Given the description of an element on the screen output the (x, y) to click on. 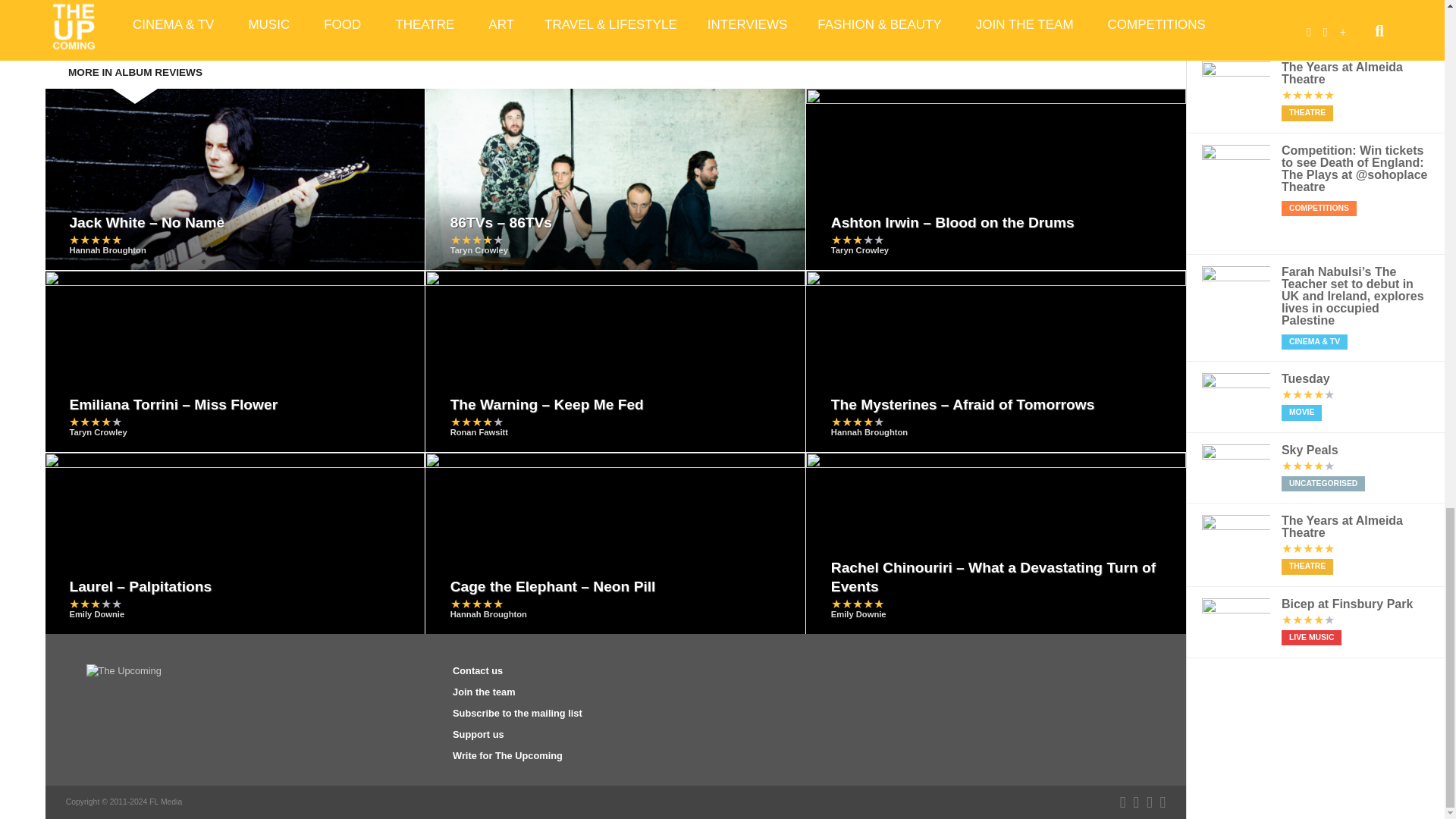
5 out of 5 stars (95, 239)
3 out of 5 stars (857, 239)
4 out of 5 stars (476, 239)
